Given the description of an element on the screen output the (x, y) to click on. 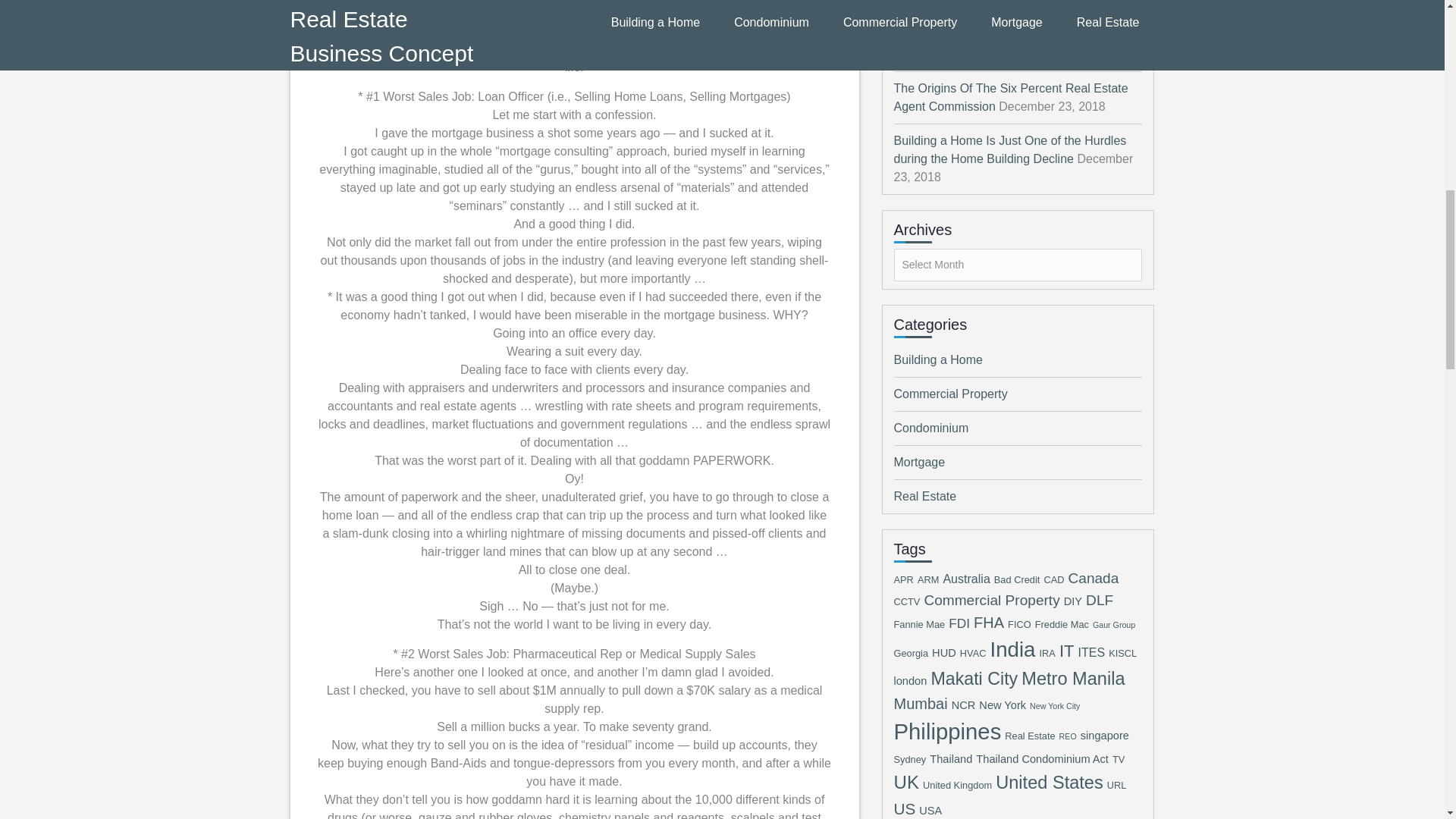
Bad Credit (1017, 579)
Commercial Property (950, 393)
Building a Home (937, 359)
Popularity of Condominiums in the Philippine Market (1013, 4)
Australia (966, 578)
Canada (1092, 578)
CAD (1053, 579)
ARM (928, 579)
Condominium (930, 427)
Real Estate (924, 495)
